Given the description of an element on the screen output the (x, y) to click on. 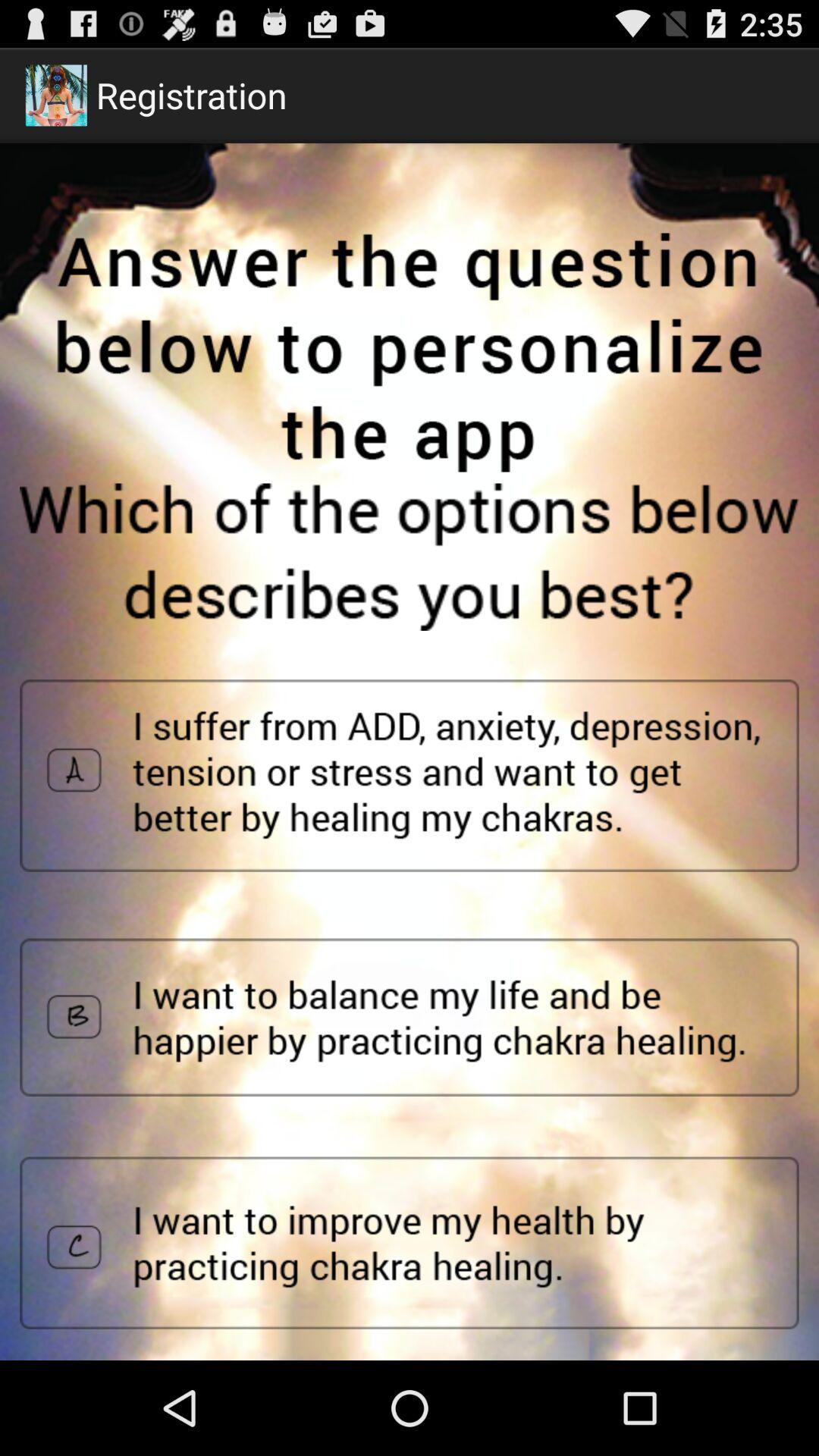
choose c (409, 1242)
